Given the description of an element on the screen output the (x, y) to click on. 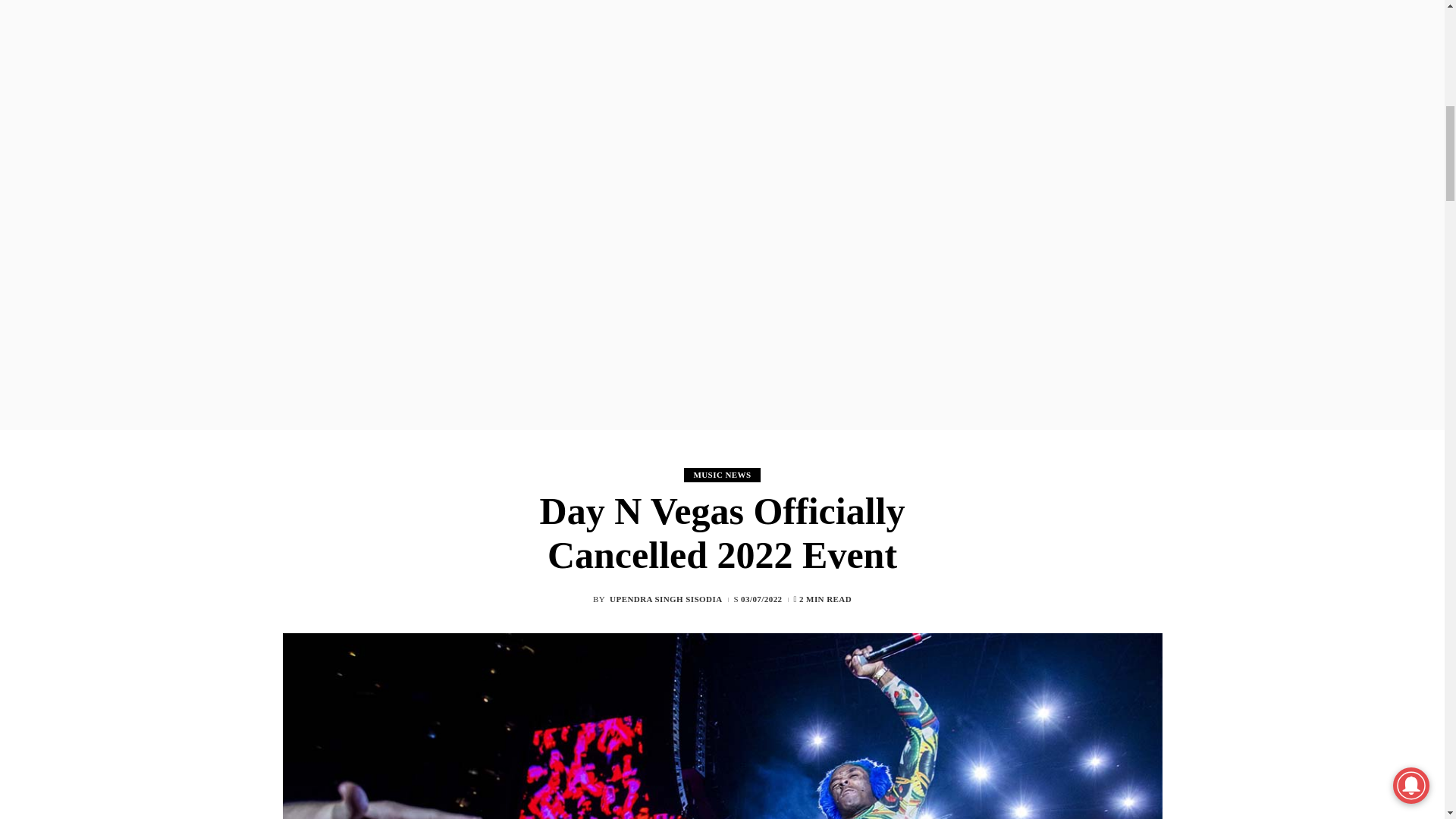
UPENDRA SINGH SISODIA (666, 599)
MUSIC NEWS (722, 474)
